Given the description of an element on the screen output the (x, y) to click on. 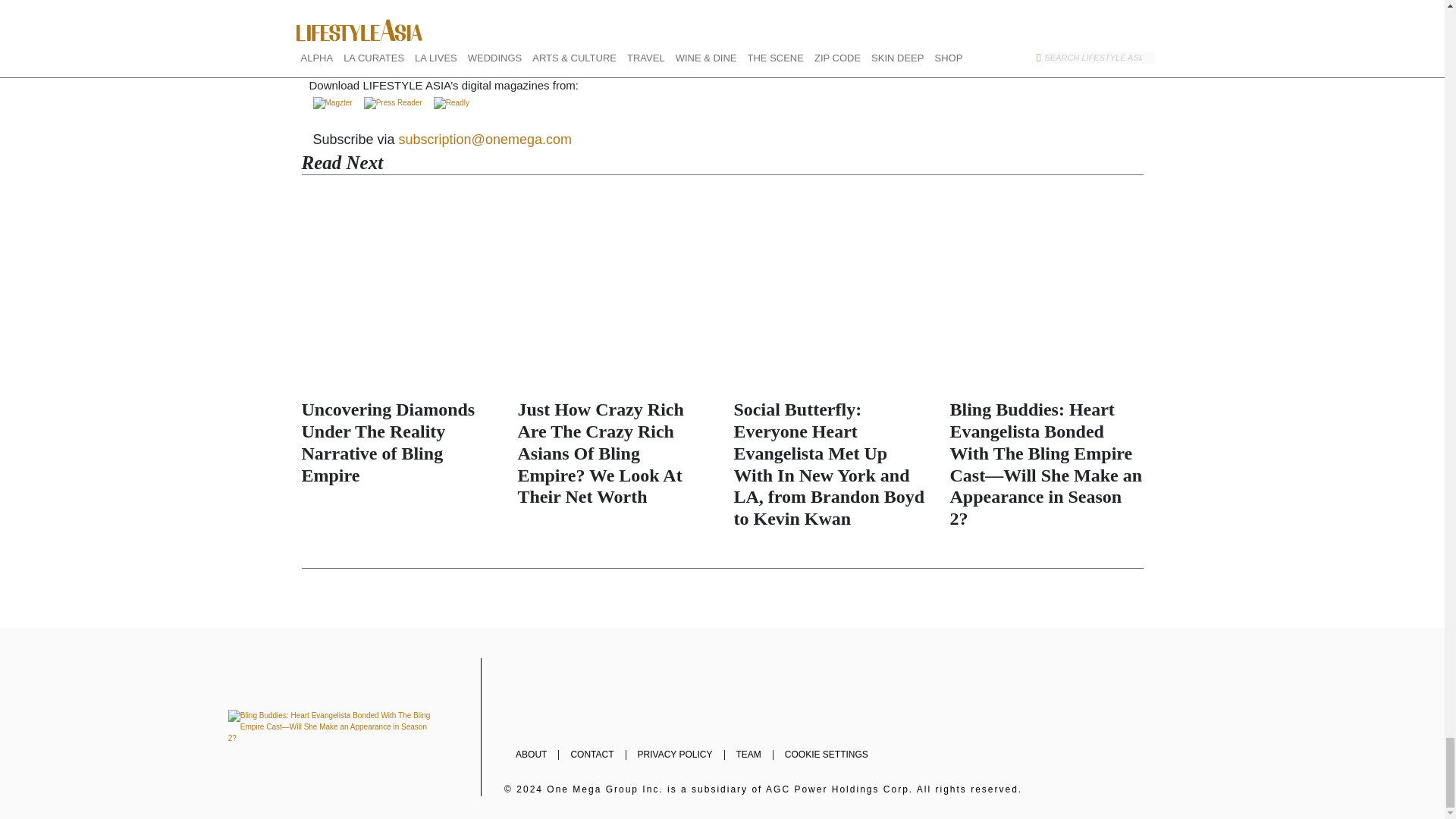
Sari Sari Shopping (345, 29)
Magzter (332, 102)
Shopee (455, 29)
Lazada (406, 29)
